Given the description of an element on the screen output the (x, y) to click on. 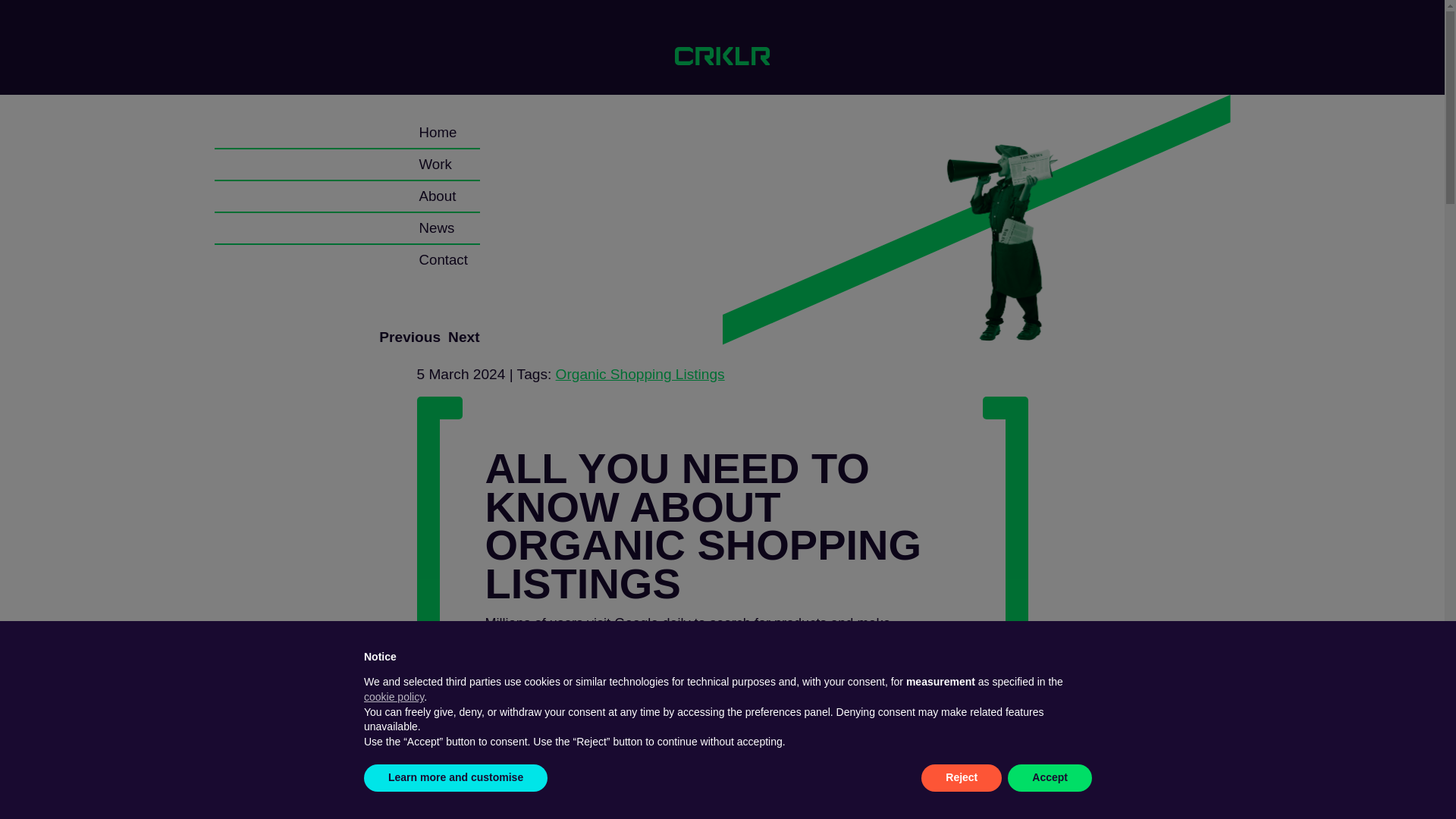
Accept (1049, 777)
Organic Shopping Listings (640, 374)
Reject (961, 777)
cookie policy (393, 696)
News (436, 228)
Work (435, 164)
Previous (409, 337)
Learn more and customise (455, 777)
Next (463, 337)
Contact (443, 260)
Home (438, 133)
About (437, 196)
